Given the description of an element on the screen output the (x, y) to click on. 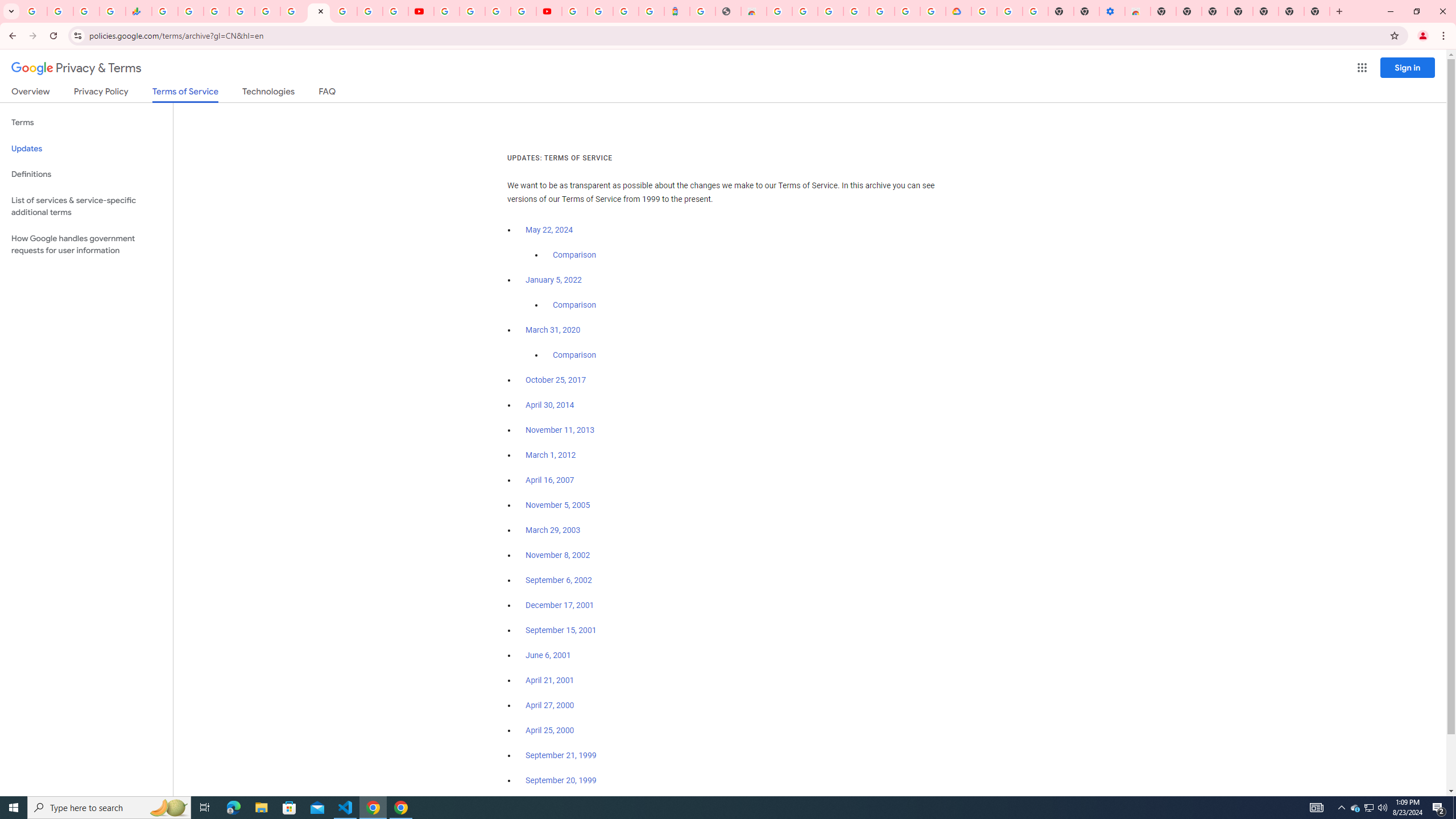
November 5, 2005 (557, 505)
Sign in - Google Accounts (830, 11)
September 6, 2002 (558, 579)
Content Creator Programs & Opportunities - YouTube Creators (548, 11)
April 27, 2000 (550, 705)
June 6, 2001 (547, 655)
April 21, 2001 (550, 679)
